Given the description of an element on the screen output the (x, y) to click on. 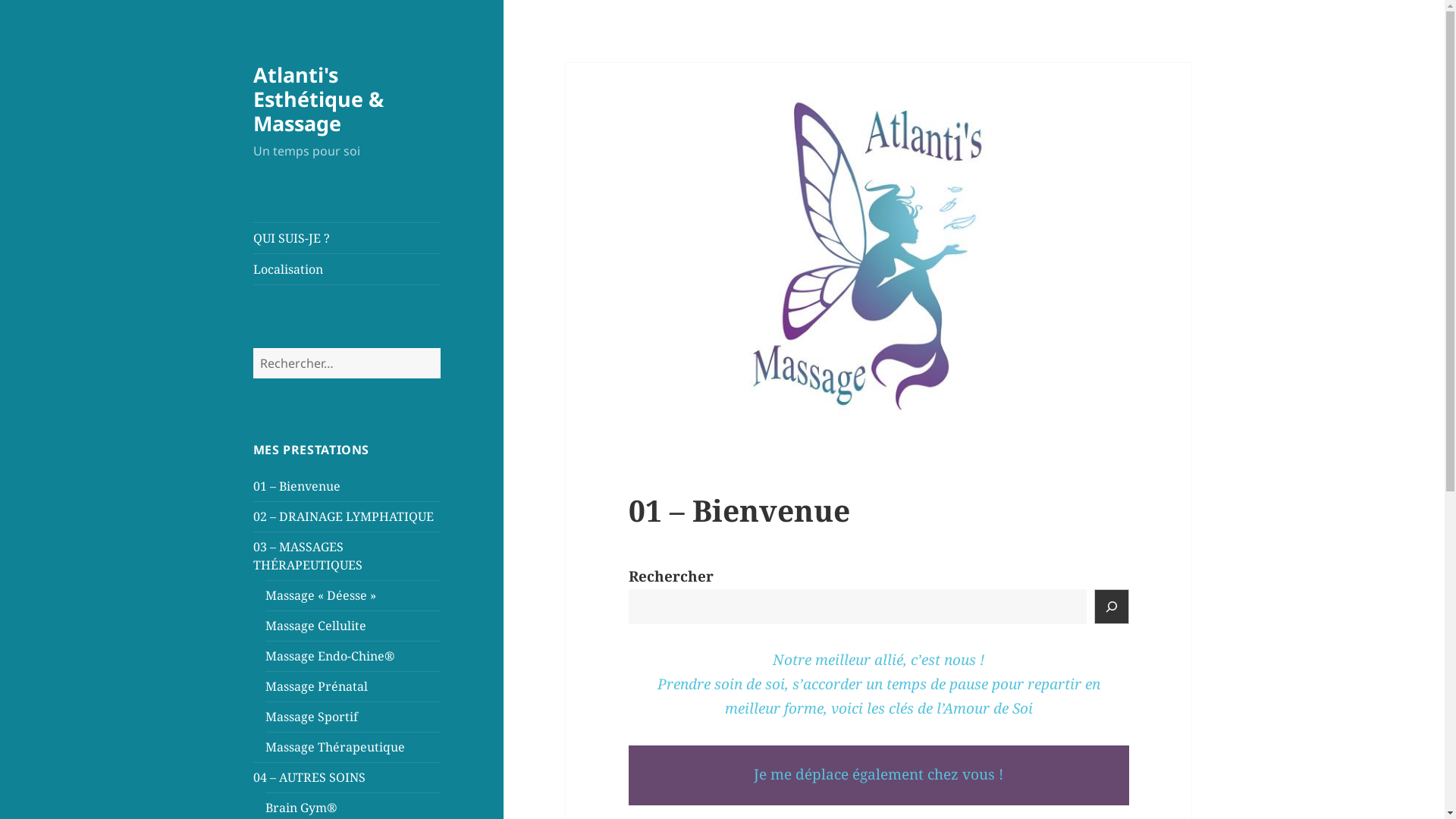
QUI SUIS-JE ? Element type: text (347, 237)
Localisation Element type: text (347, 269)
Massage Cellulite Element type: text (315, 625)
Massage Sportif Element type: text (311, 716)
Rechercher Element type: text (439, 347)
